Given the description of an element on the screen output the (x, y) to click on. 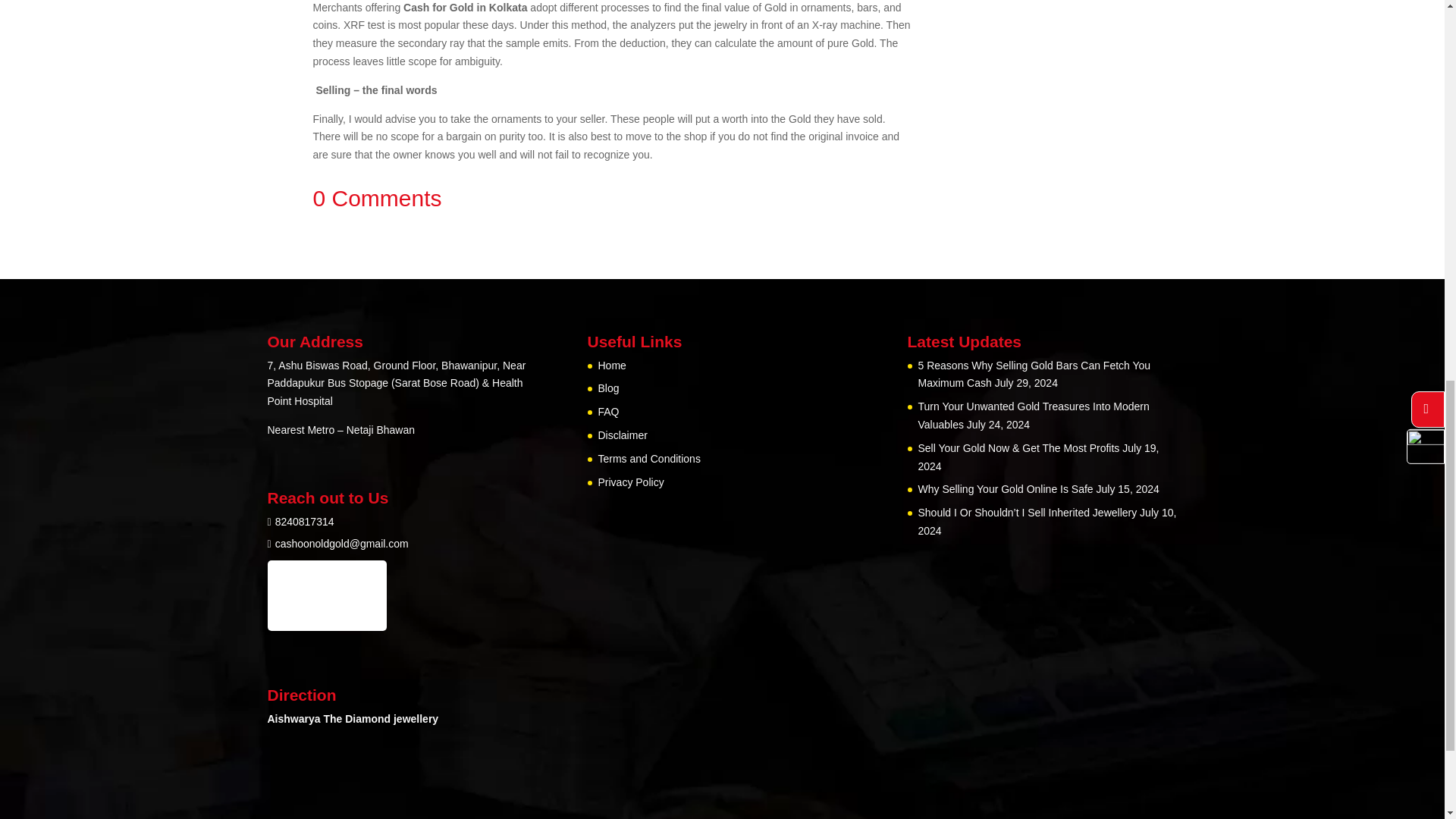
Disclaimer (621, 762)
5 Reasons Why Selling Gold Bars Can Fetch You Maximum Cash (1033, 702)
Privacy Policy (629, 809)
Terms and Conditions (648, 786)
Cash for Gold in Kolkata (741, 18)
Why Selling Your Gold Online Is Safe (1005, 814)
Turn Your Unwanted Gold Treasures Into Modern Valuables (1032, 743)
FAQ (607, 739)
Home (611, 693)
Blog (607, 715)
